Given the description of an element on the screen output the (x, y) to click on. 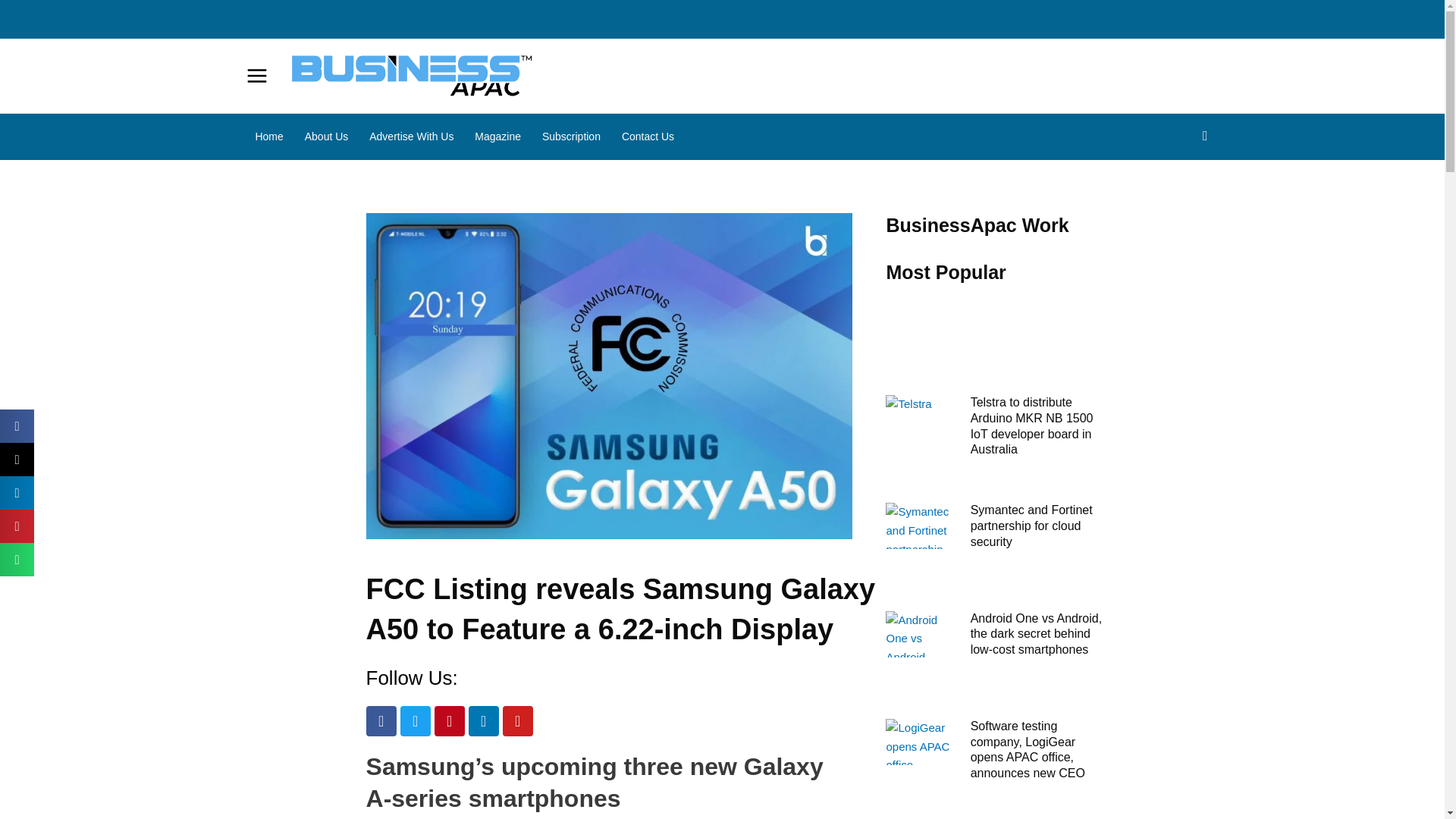
Twitter (415, 720)
Home (269, 135)
Linkedin (483, 720)
About Us (326, 135)
Magazine (497, 135)
Contact Us (642, 135)
Symantec and Fortinet partnership for cloud security (1032, 525)
Facebook (381, 720)
